Given the description of an element on the screen output the (x, y) to click on. 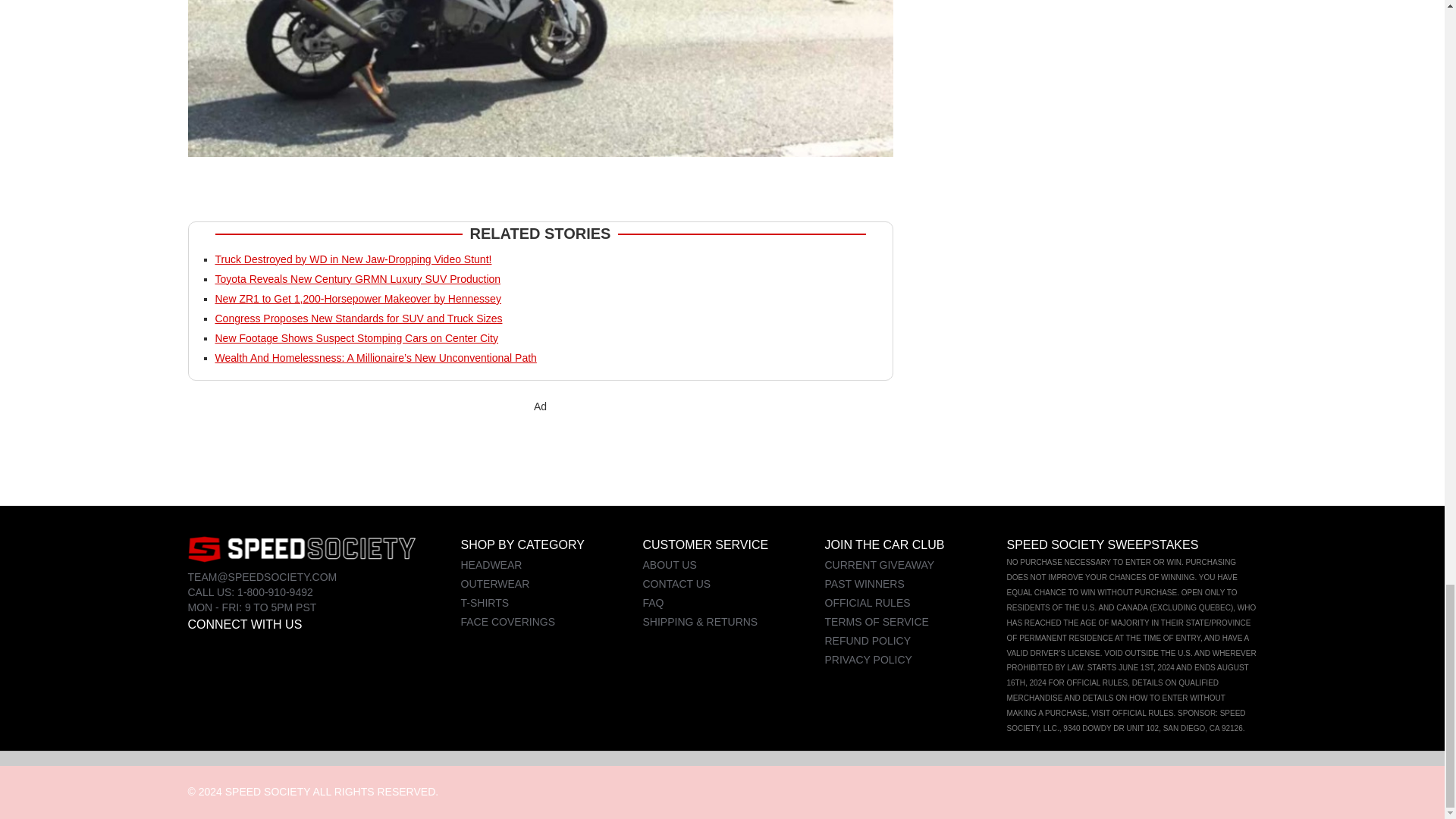
footer logo (300, 549)
Truck Destroyed by WD in New Jaw-Dropping Video Stunt! (353, 259)
bmw-launch - Speed Society (540, 78)
